Given the description of an element on the screen output the (x, y) to click on. 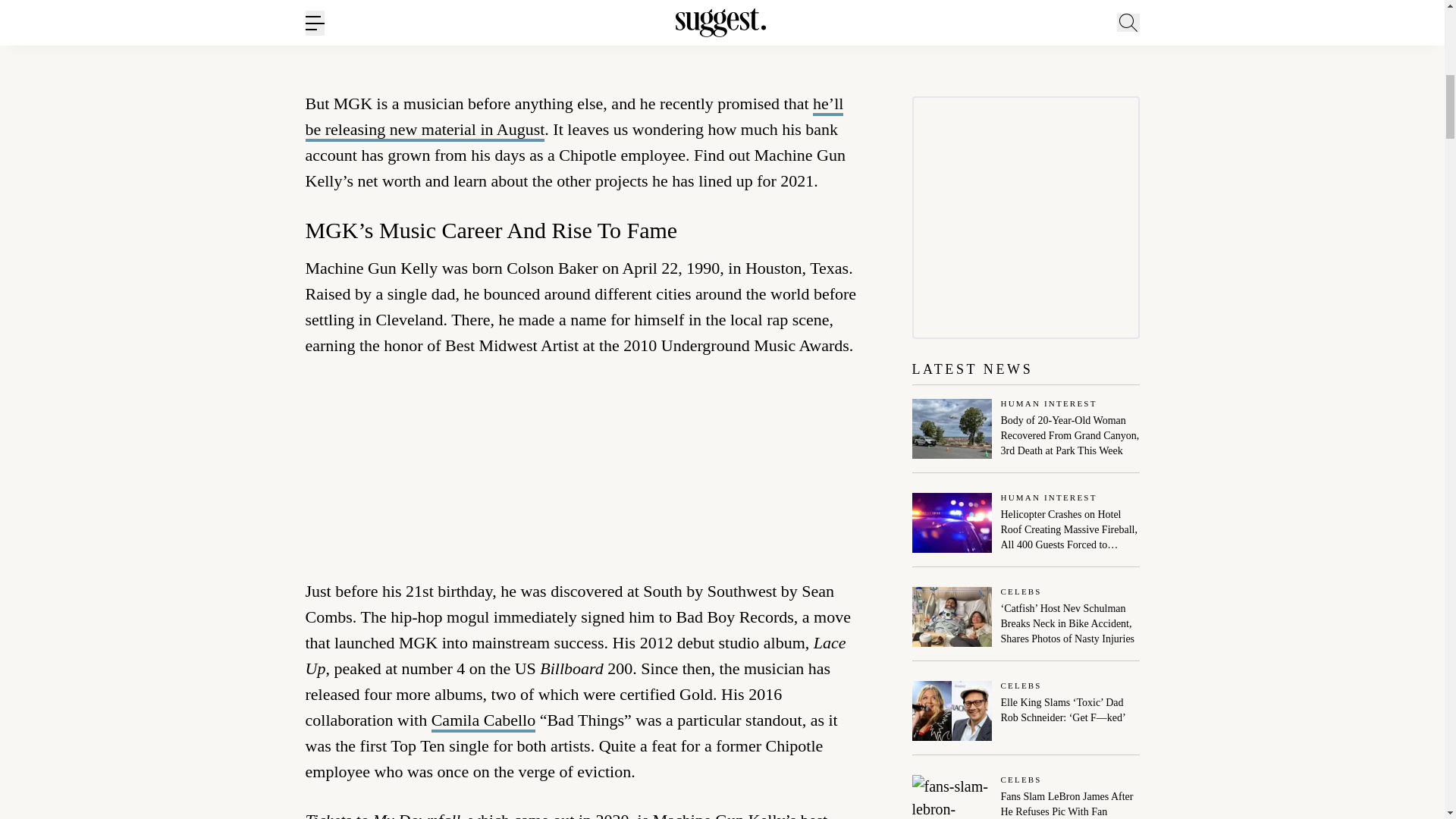
Camila Cabello (482, 721)
Human Interest (1070, 404)
